Given the description of an element on the screen output the (x, y) to click on. 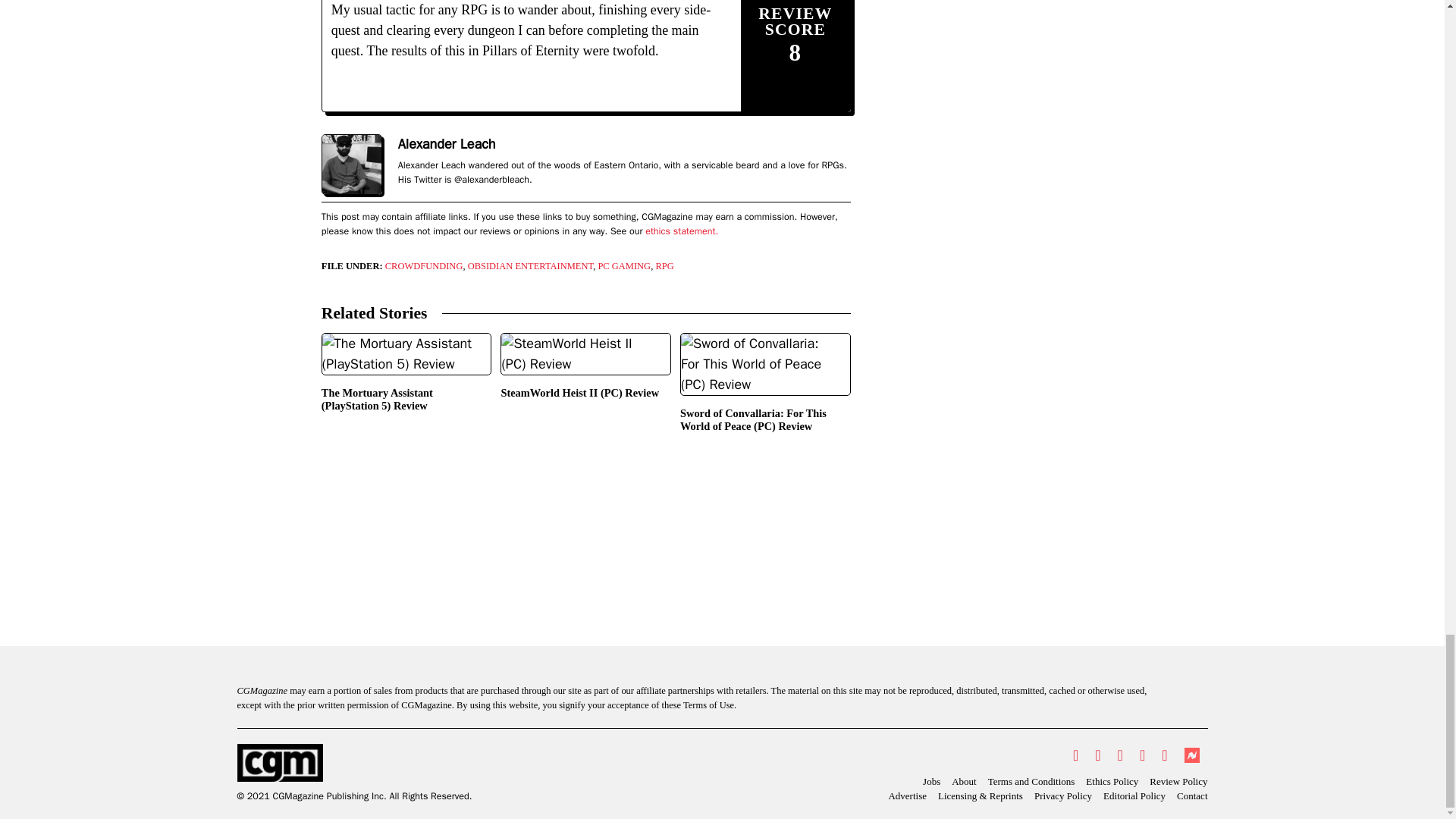
Twitter Profile (1075, 754)
YouTube Page (1142, 754)
Facebook Page (1097, 754)
Instagram Profile (1120, 754)
CGMagazine (353, 762)
NewsBreak (1190, 754)
Alexander Leach (446, 144)
Flipboard Page (1163, 754)
